Given the description of an element on the screen output the (x, y) to click on. 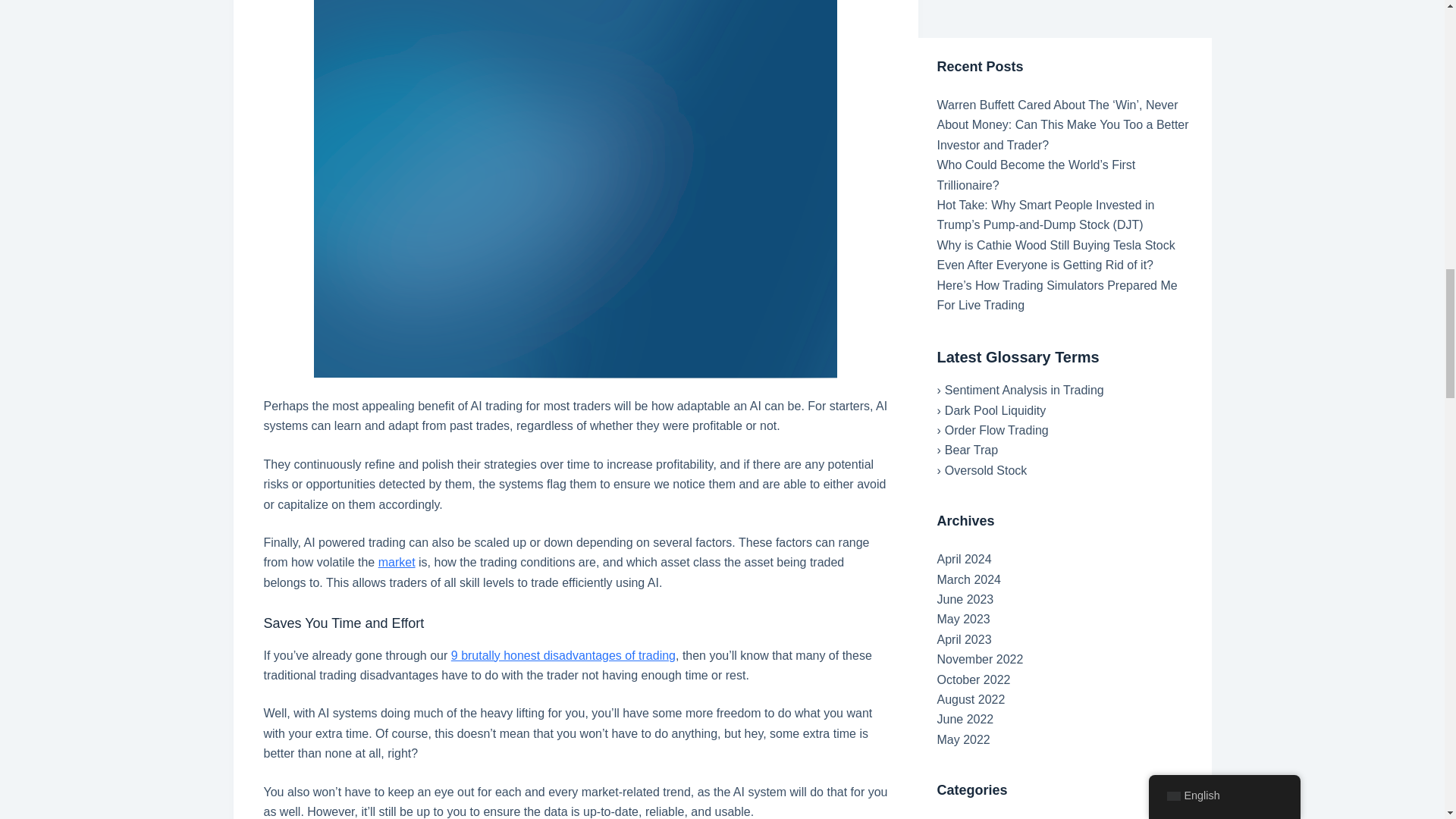
market (396, 562)
9 brutally honest disadvantages of trading (563, 655)
